Given the description of an element on the screen output the (x, y) to click on. 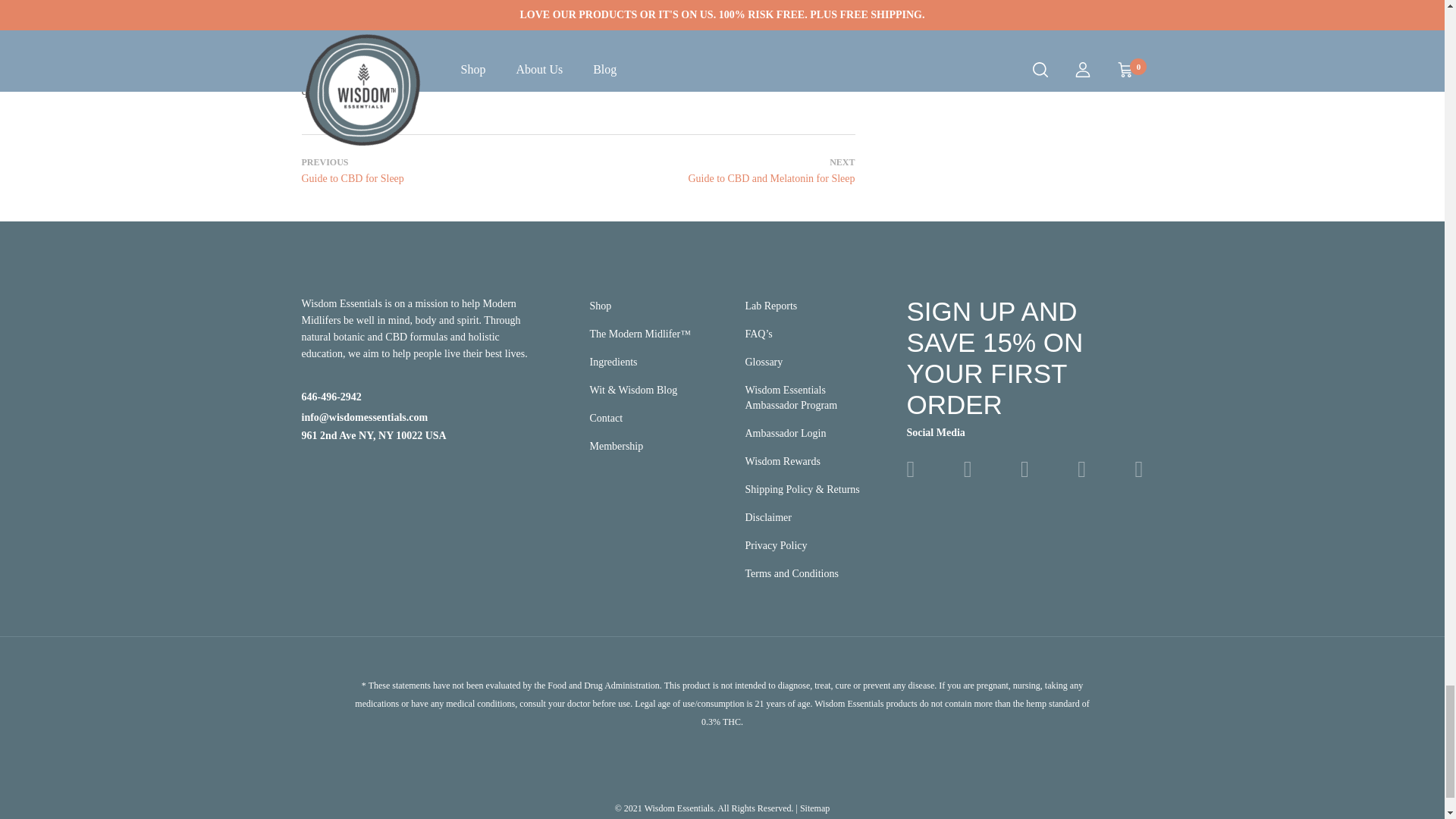
products (459, 72)
